Given the description of an element on the screen output the (x, y) to click on. 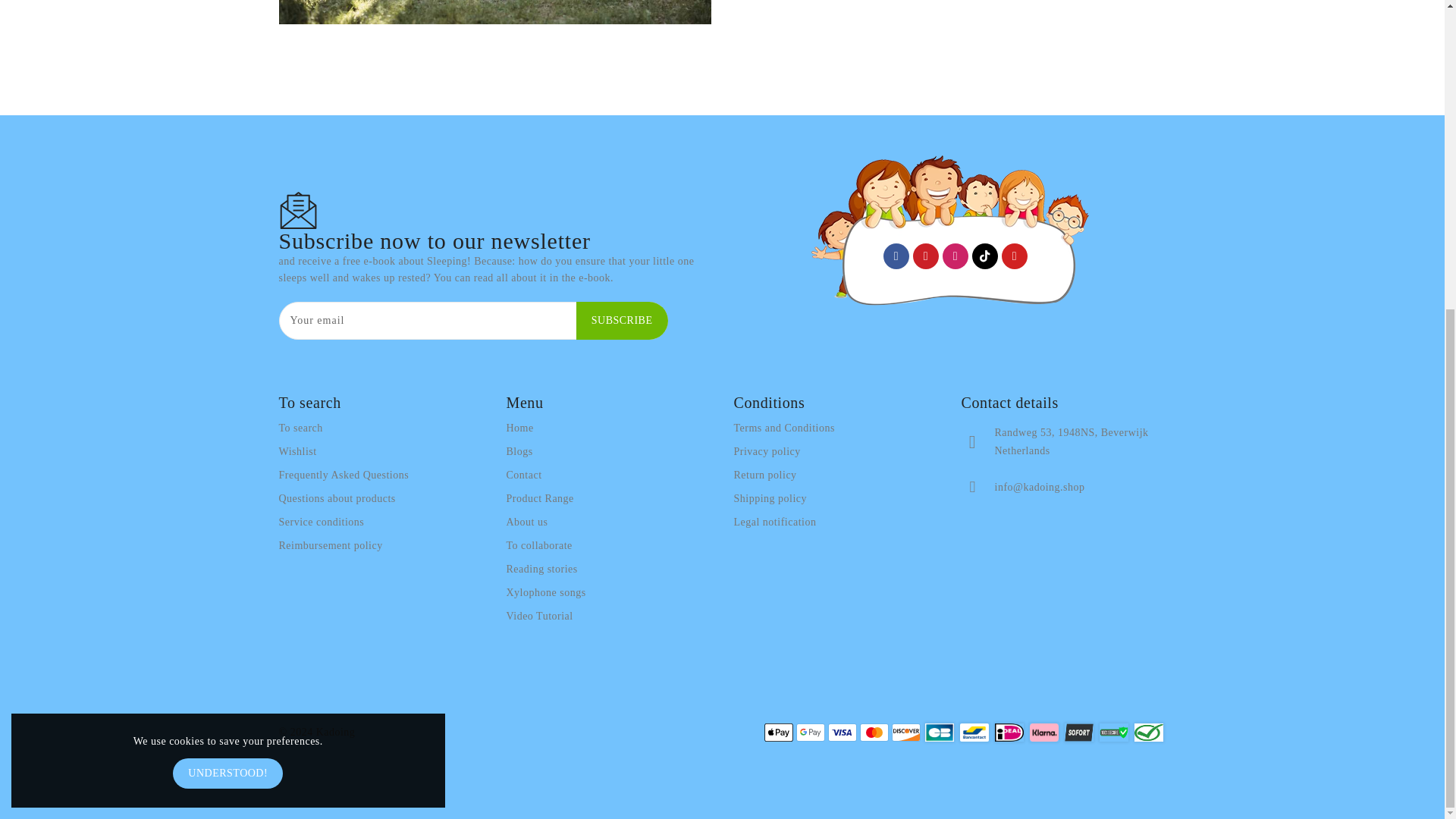
To collaborate (539, 546)
Questions about products (337, 498)
About us (527, 522)
Contact (523, 475)
Reimbursement policy (330, 546)
Reading stories (542, 569)
Product Range (539, 498)
Service conditions (322, 522)
Home (520, 428)
Frequently Asked Questions (344, 475)
Blogs (519, 451)
SUBSCRIBE (622, 320)
Wishlist (298, 451)
To search (301, 428)
